Given the description of an element on the screen output the (x, y) to click on. 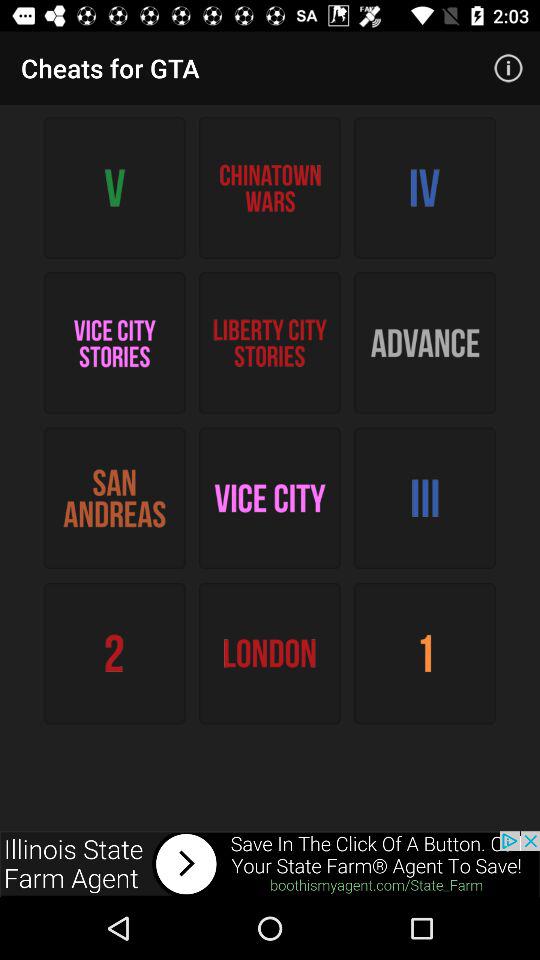
advertisement page (270, 864)
